Given the description of an element on the screen output the (x, y) to click on. 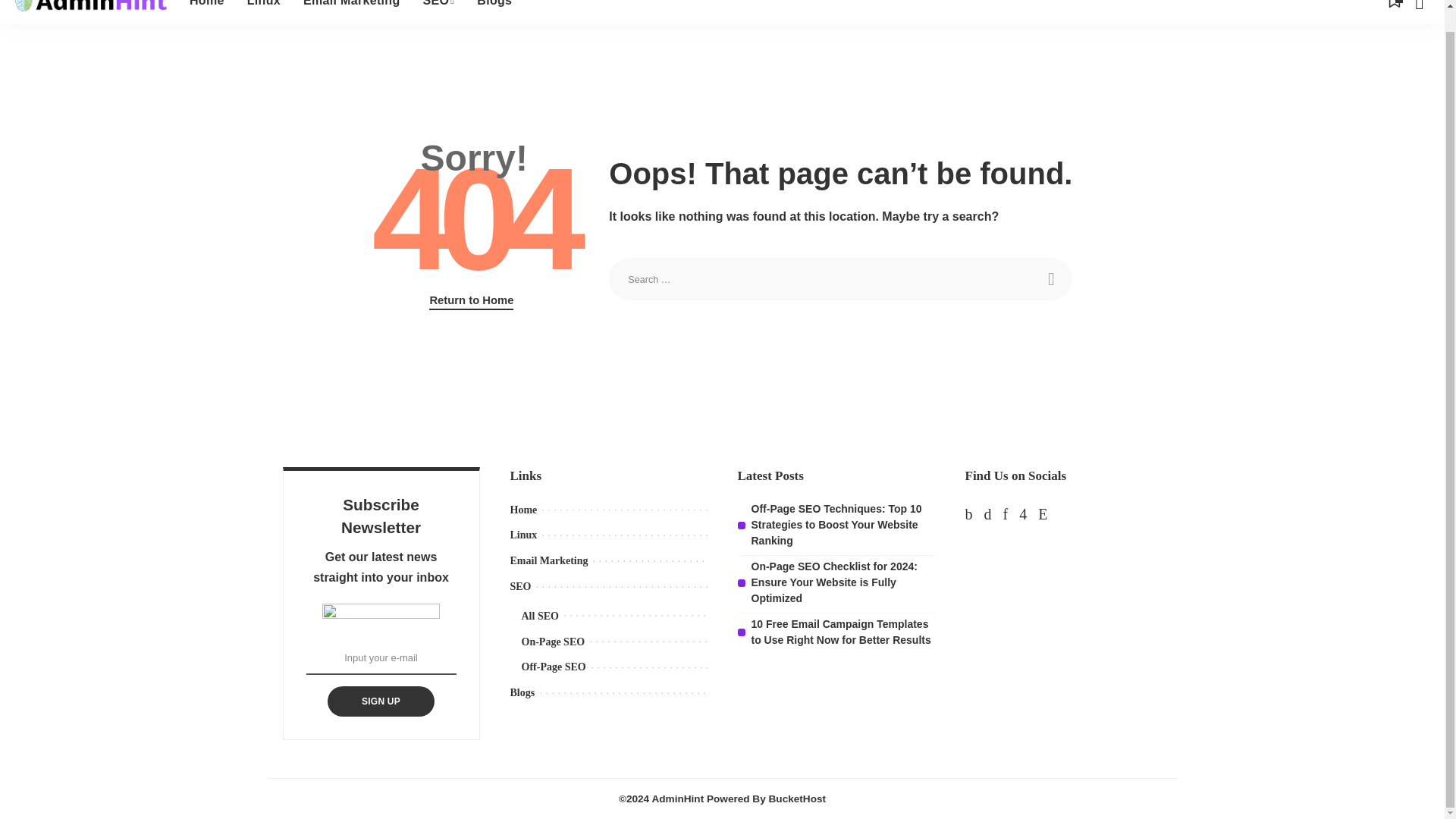
Search (1050, 278)
Linux (263, 11)
Home (206, 11)
Search (1050, 278)
